Given the description of an element on the screen output the (x, y) to click on. 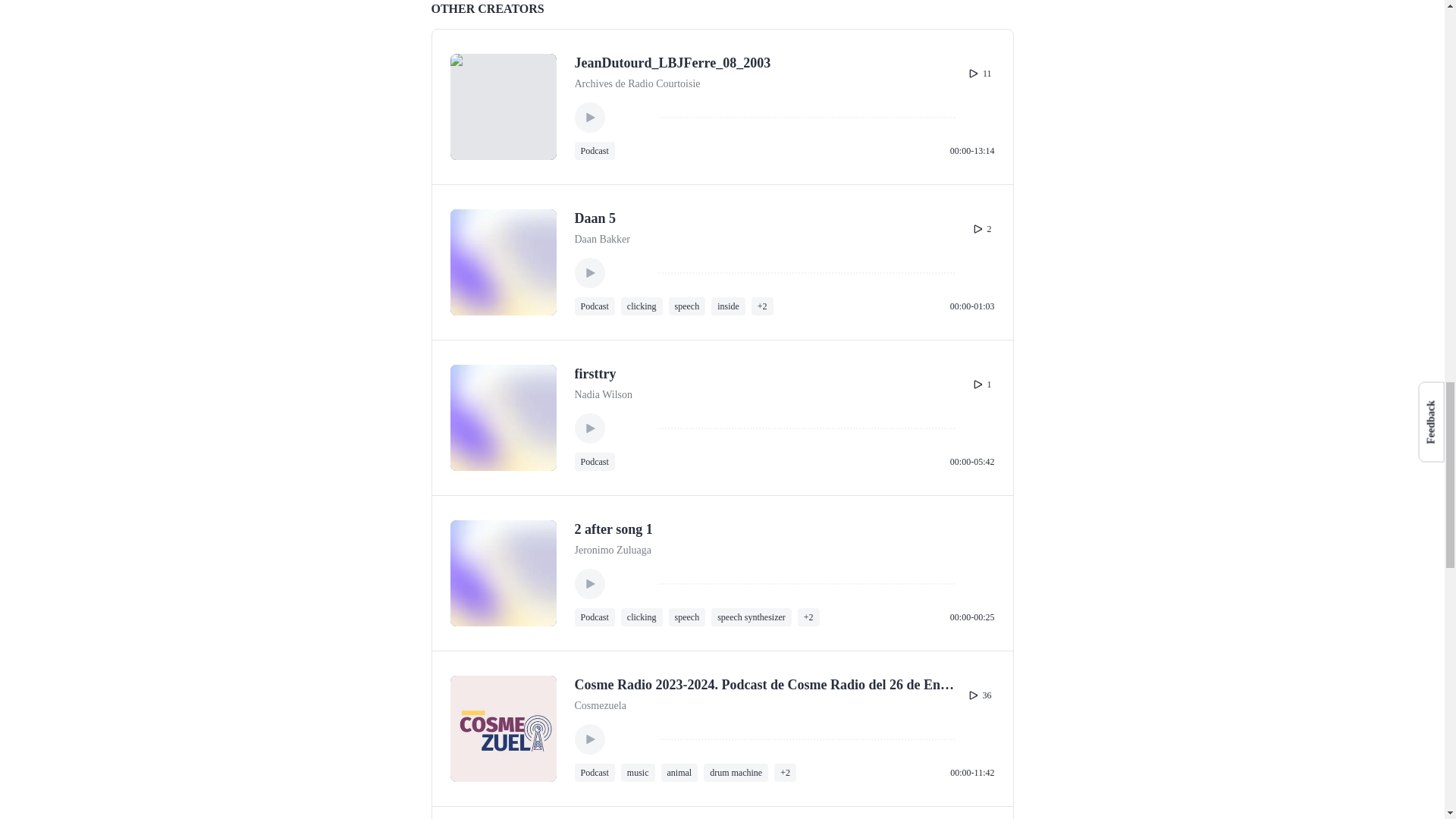
Archives de Radio Courtoisie (637, 84)
Podcast (594, 306)
Podcast (594, 150)
Play (590, 117)
Daan Bakker (602, 239)
Play (590, 272)
Daan 5 (595, 218)
